Given the description of an element on the screen output the (x, y) to click on. 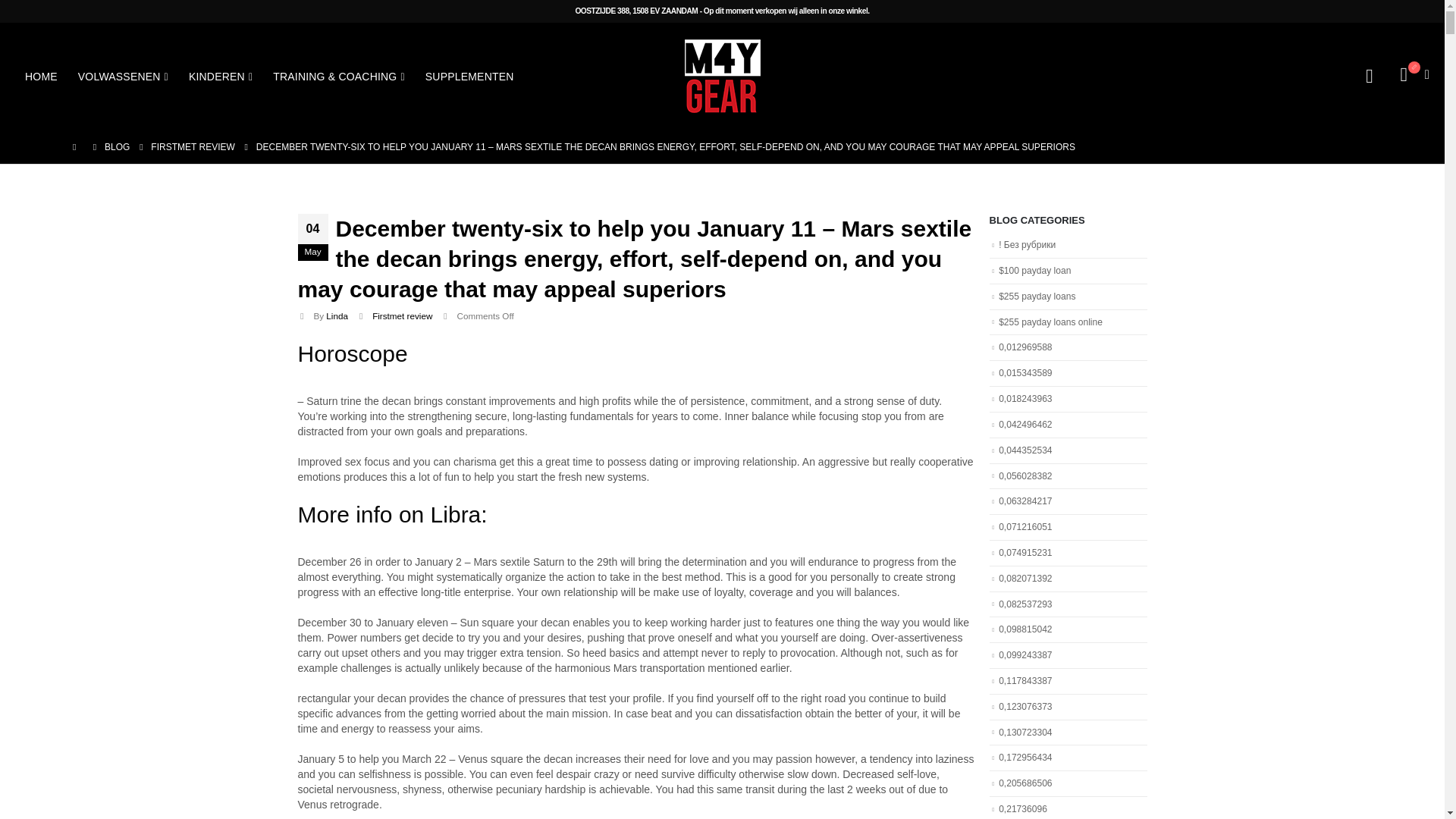
Firstmet review (402, 316)
Linda (336, 316)
AANMELDEN (1017, 562)
SUPPLEMENTEN (469, 76)
Posts by Linda (336, 316)
HOME (40, 76)
Naam (1053, 462)
KINDEREN (220, 76)
My Account (1368, 76)
BLOG (116, 146)
M4Y GEAR - Vechtsportwinkel Zaandam (722, 76)
VOLWASSENEN (122, 76)
FIRSTMET REVIEW (192, 146)
Email (1053, 519)
